Given the description of an element on the screen output the (x, y) to click on. 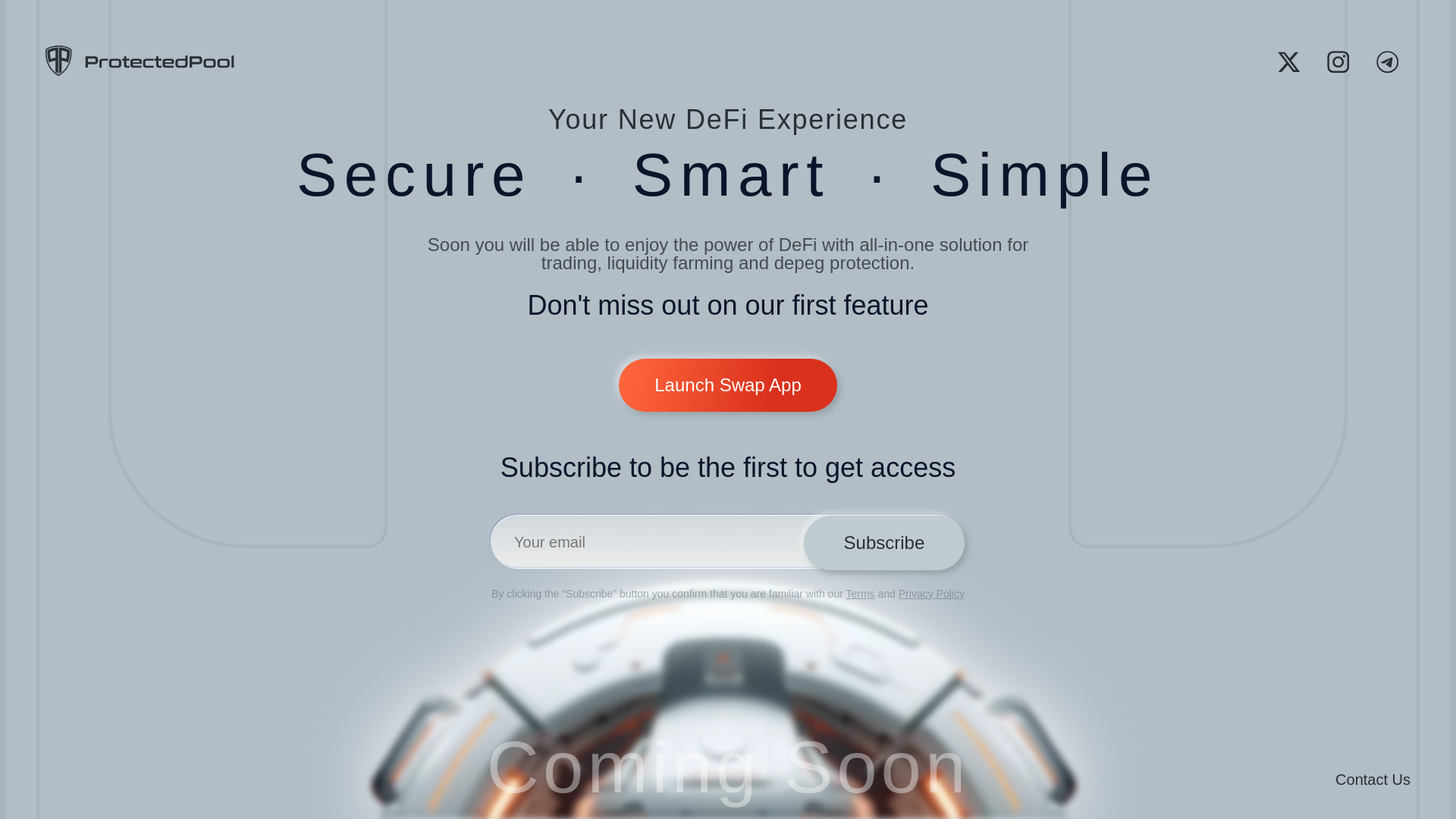
Contact Us (1372, 779)
Launch Swap App (727, 384)
Launch Swap App (727, 366)
Terms (860, 593)
Subscribe (883, 542)
Privacy Policy (930, 593)
